Given the description of an element on the screen output the (x, y) to click on. 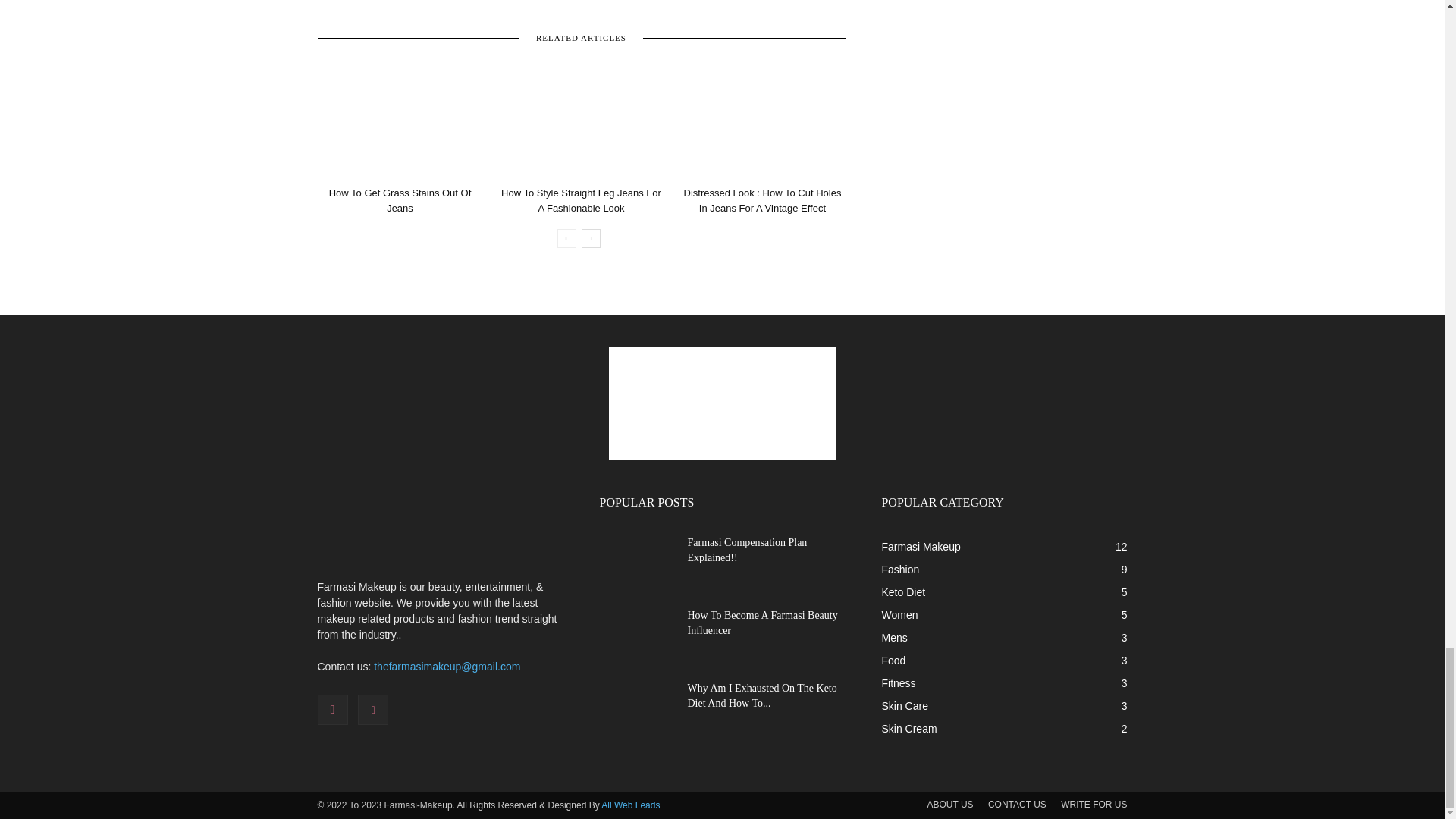
How To Get Grass Stains Out Of Jeans (400, 200)
How To Get Grass Stains Out Of Jeans (399, 123)
